Given the description of an element on the screen output the (x, y) to click on. 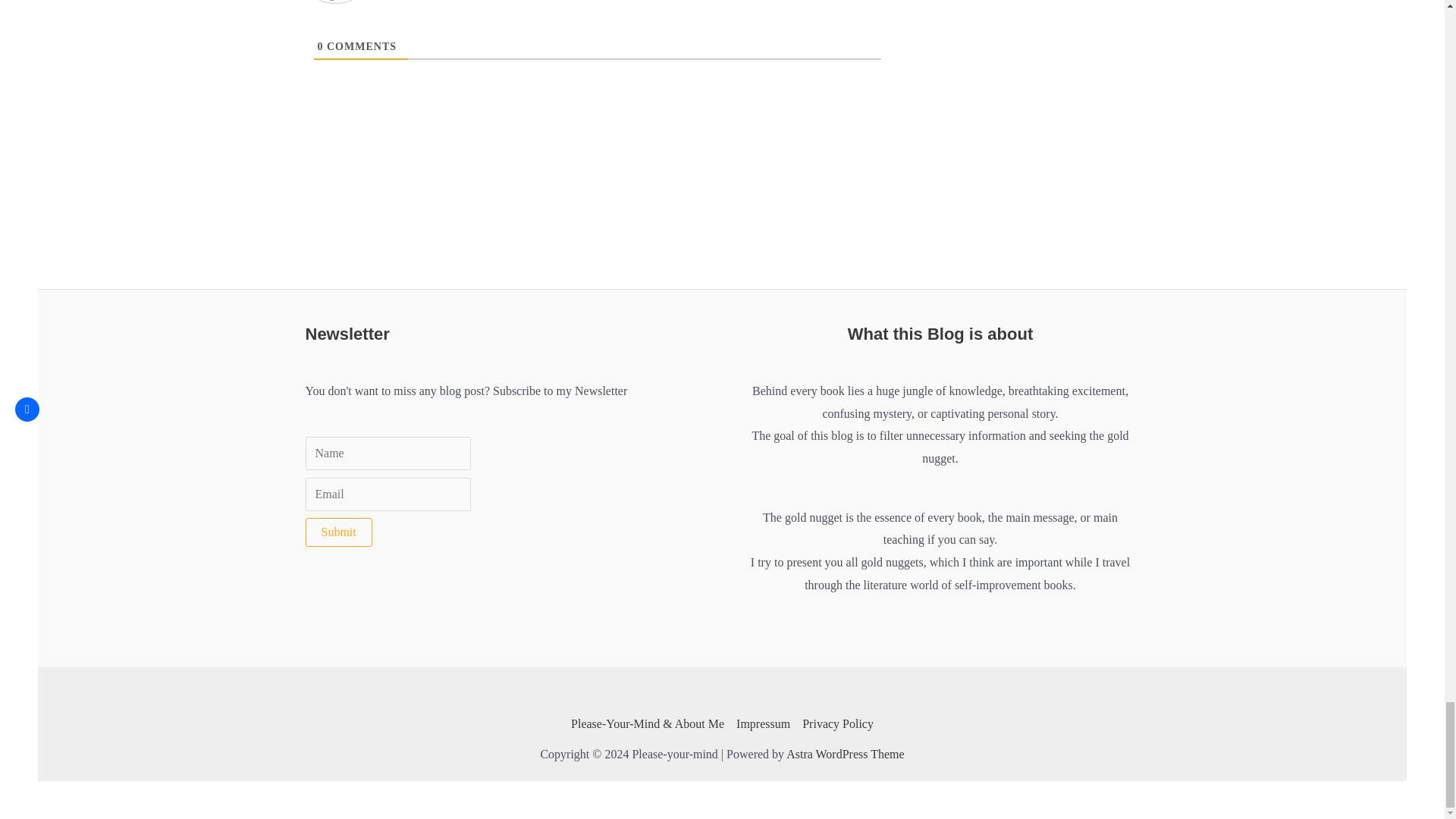
Submit (337, 532)
